Given the description of an element on the screen output the (x, y) to click on. 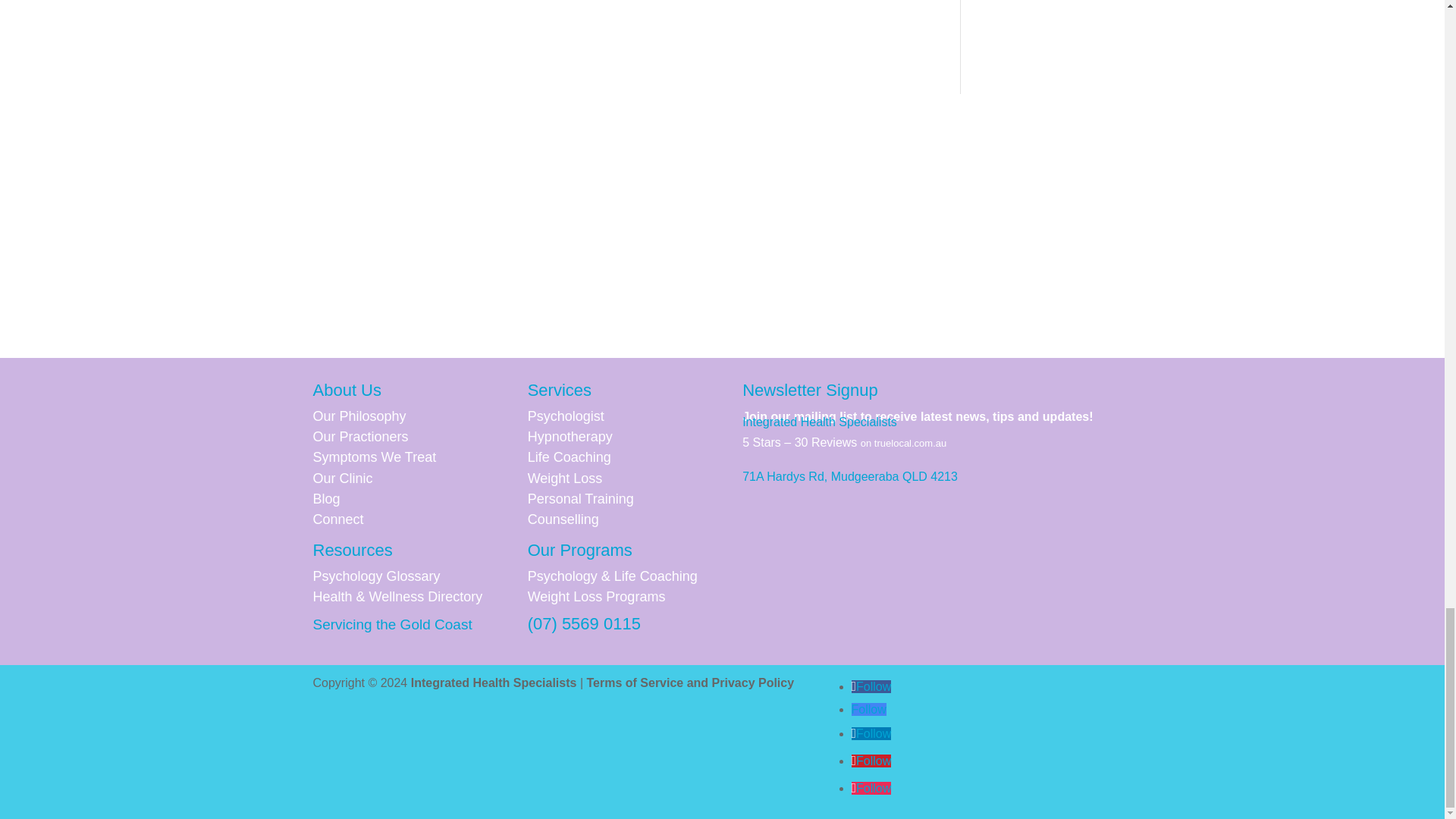
Follow on LinkedIn (870, 733)
Follow on Facebook (870, 686)
Follow on Google (867, 708)
Follow on Instagram (870, 788)
Follow on Pinterest (870, 760)
